Given the description of an element on the screen output the (x, y) to click on. 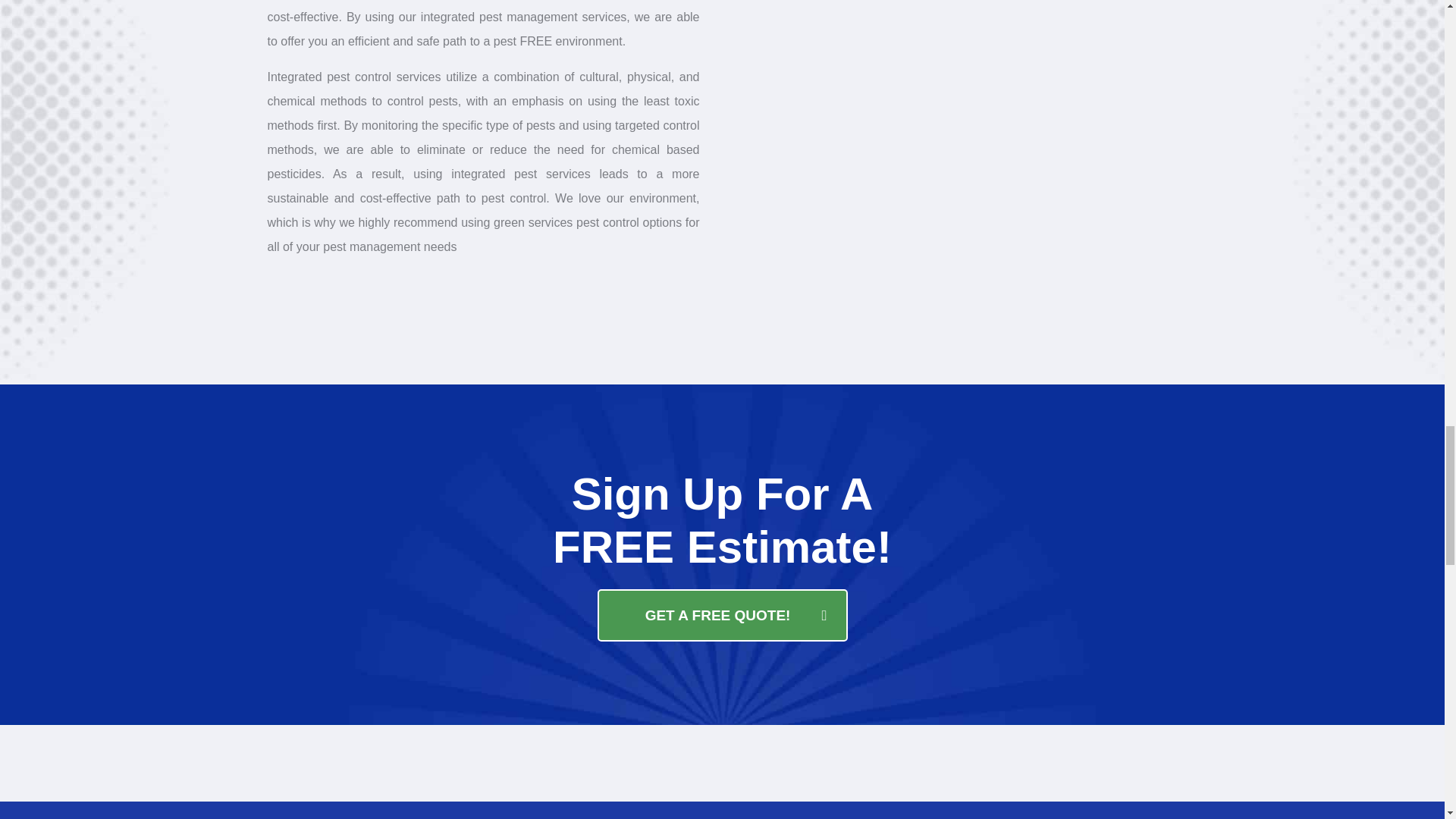
GET A FREE QUOTE! (721, 614)
